Given the description of an element on the screen output the (x, y) to click on. 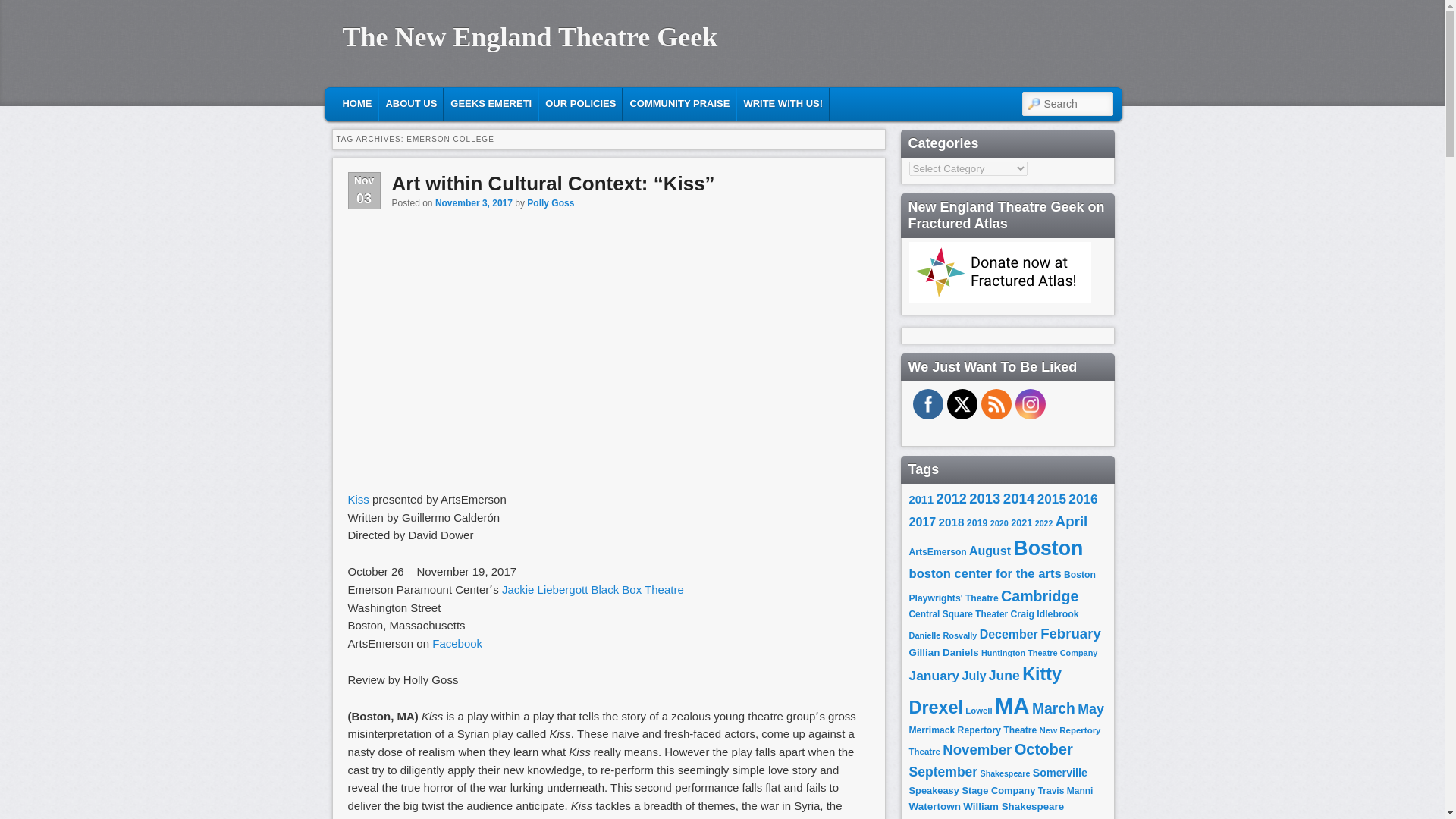
Polly Goss (550, 203)
November 3, 2017 (473, 203)
The New England Theatre Geek (529, 37)
Jackie Liebergott Black Box Theatre (593, 589)
Skip to primary content (421, 102)
COMMUNITY PRAISE (679, 103)
Kiss (359, 499)
SKIP TO PRIMARY CONTENT (421, 102)
Search (24, 8)
11:43 am (473, 203)
